Given the description of an element on the screen output the (x, y) to click on. 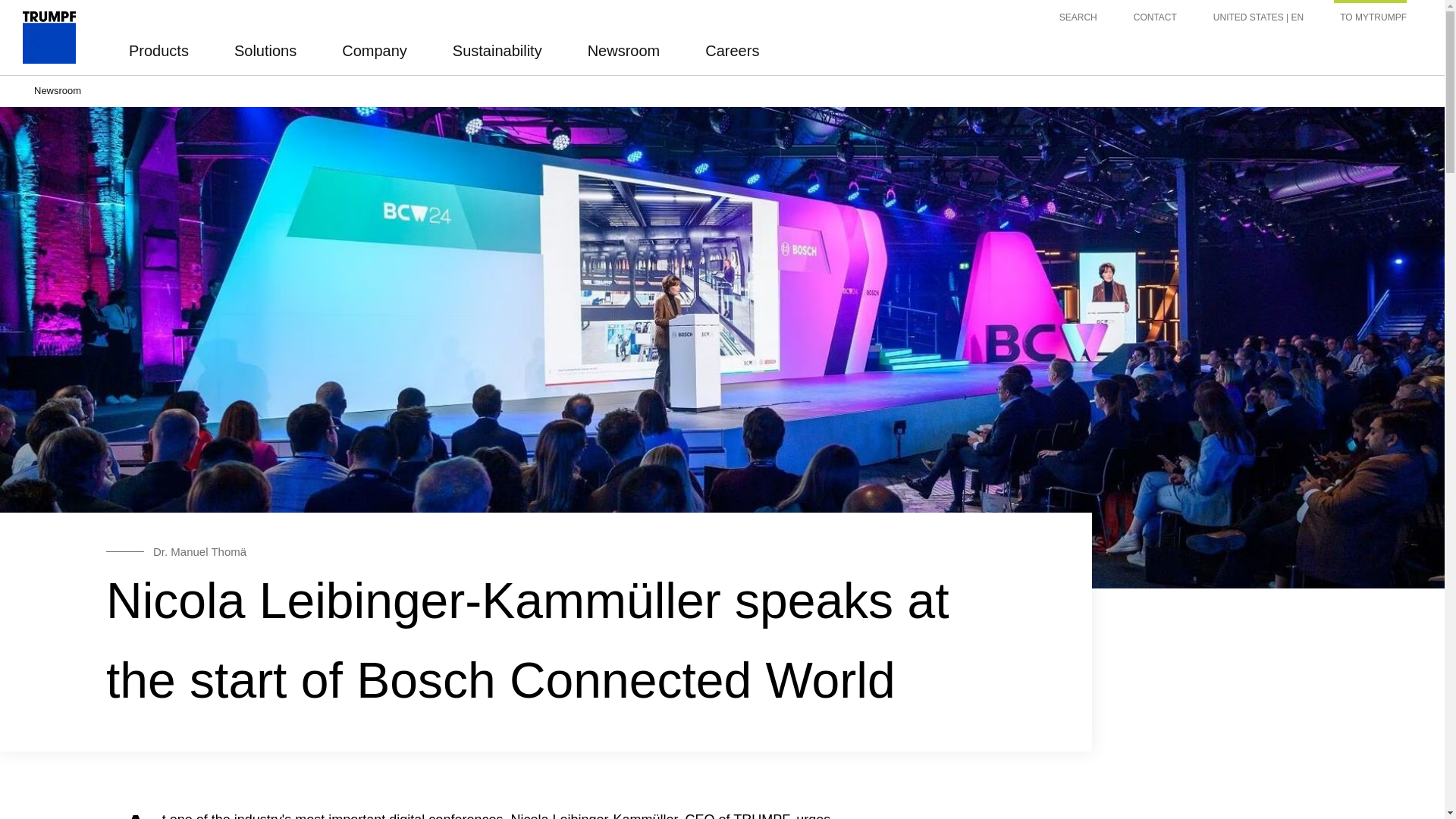
Products (159, 50)
